Given the description of an element on the screen output the (x, y) to click on. 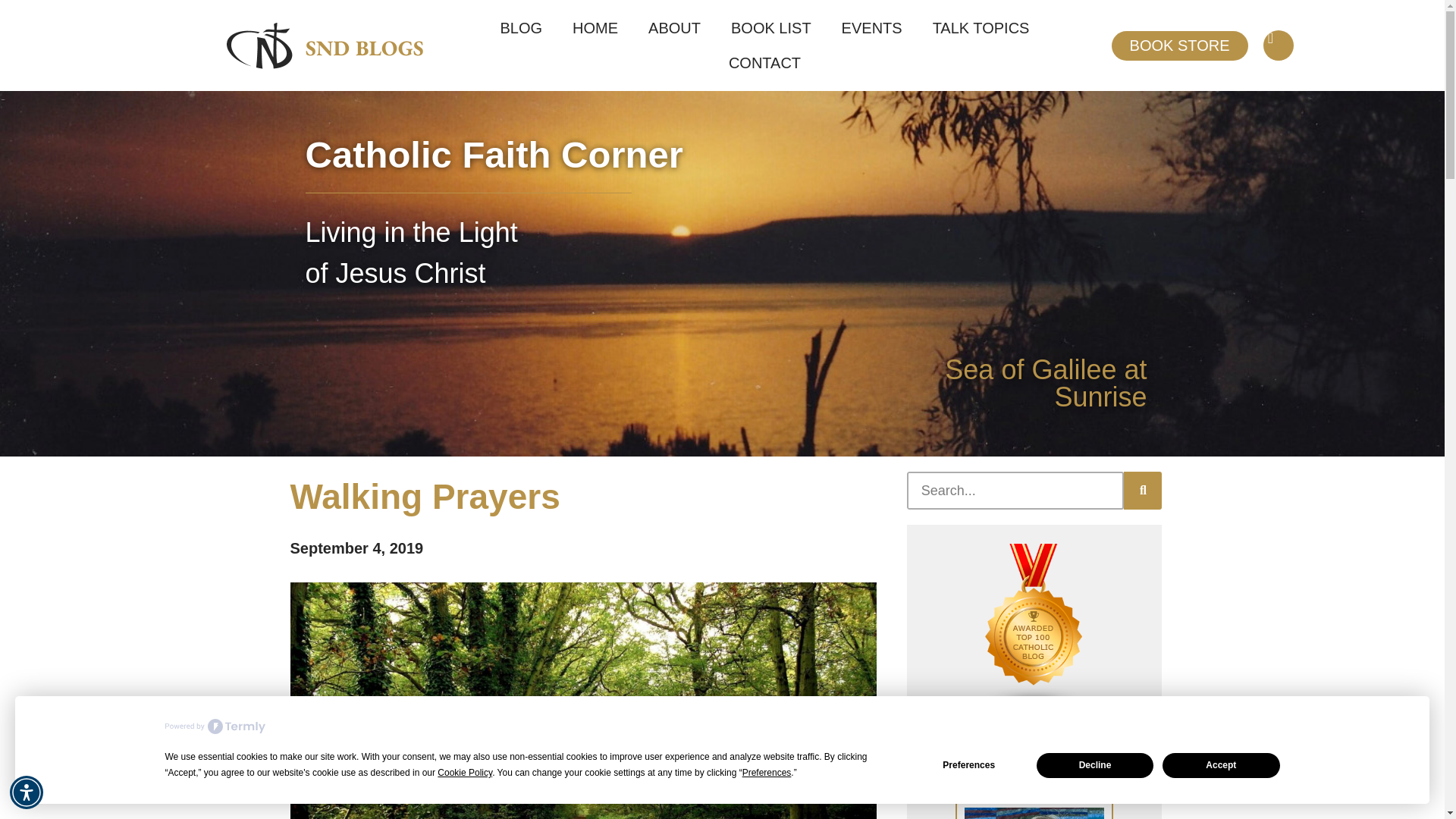
HOME (595, 27)
ABOUT (674, 27)
BOOK LIST (771, 27)
Accept (1220, 764)
EVENTS (872, 27)
TALK TOPICS (981, 27)
BLOG (520, 27)
Accessibility Menu (26, 792)
BOOK STORE (1179, 44)
Decline (1094, 764)
Preferences (969, 764)
CONTACT (764, 62)
